Given the description of an element on the screen output the (x, y) to click on. 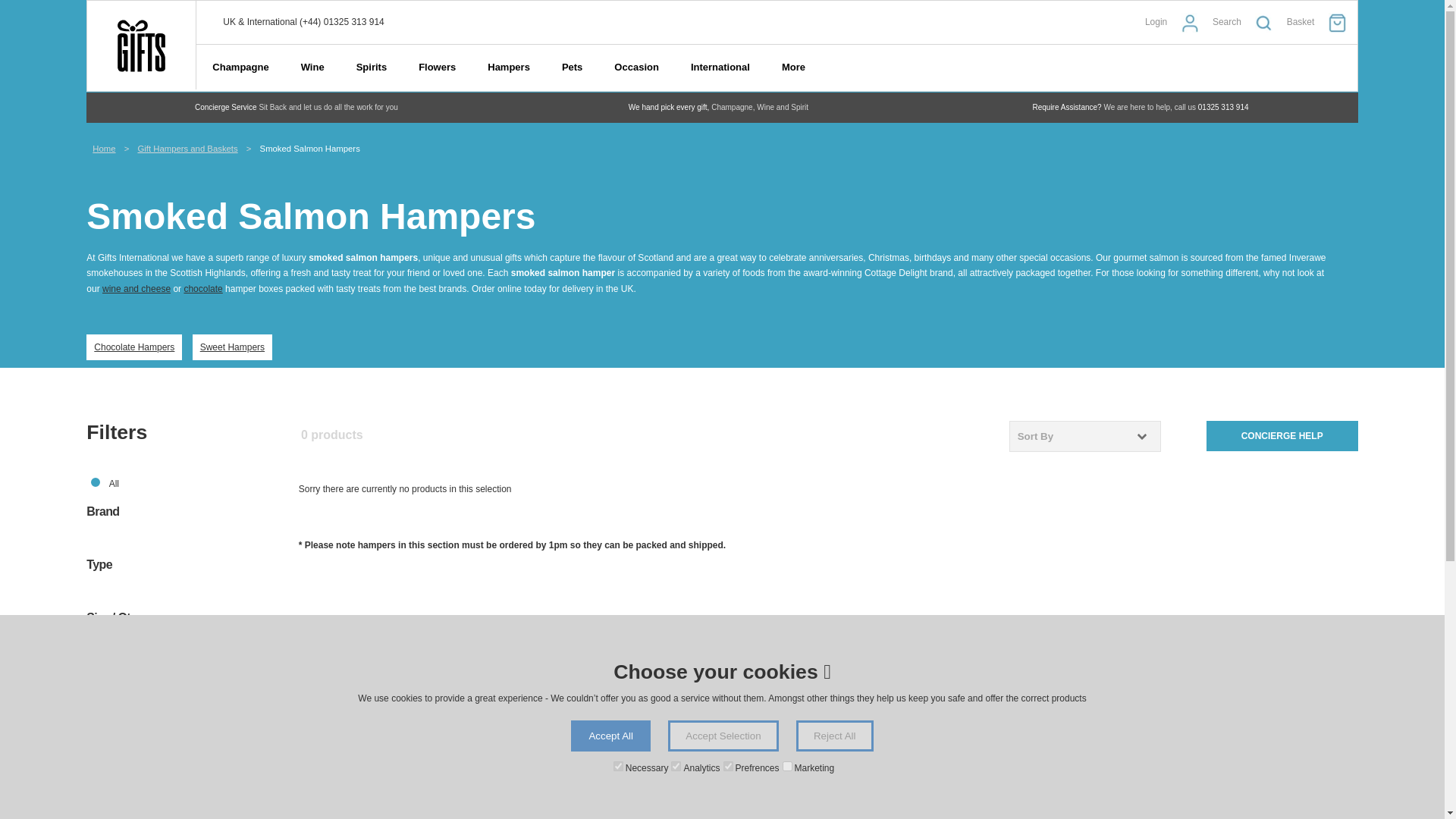
Prefrences (728, 766)
Necessary (617, 766)
Marketing (787, 766)
Login (1176, 22)
Basket (1321, 22)
Chocolate Hampers Sweet Hampers (720, 350)
Basket (1321, 22)
Champagne (239, 67)
Analytics (676, 766)
User account Log In (1176, 22)
Chocolate Hampers Sweet Hampers (182, 350)
